Given the description of an element on the screen output the (x, y) to click on. 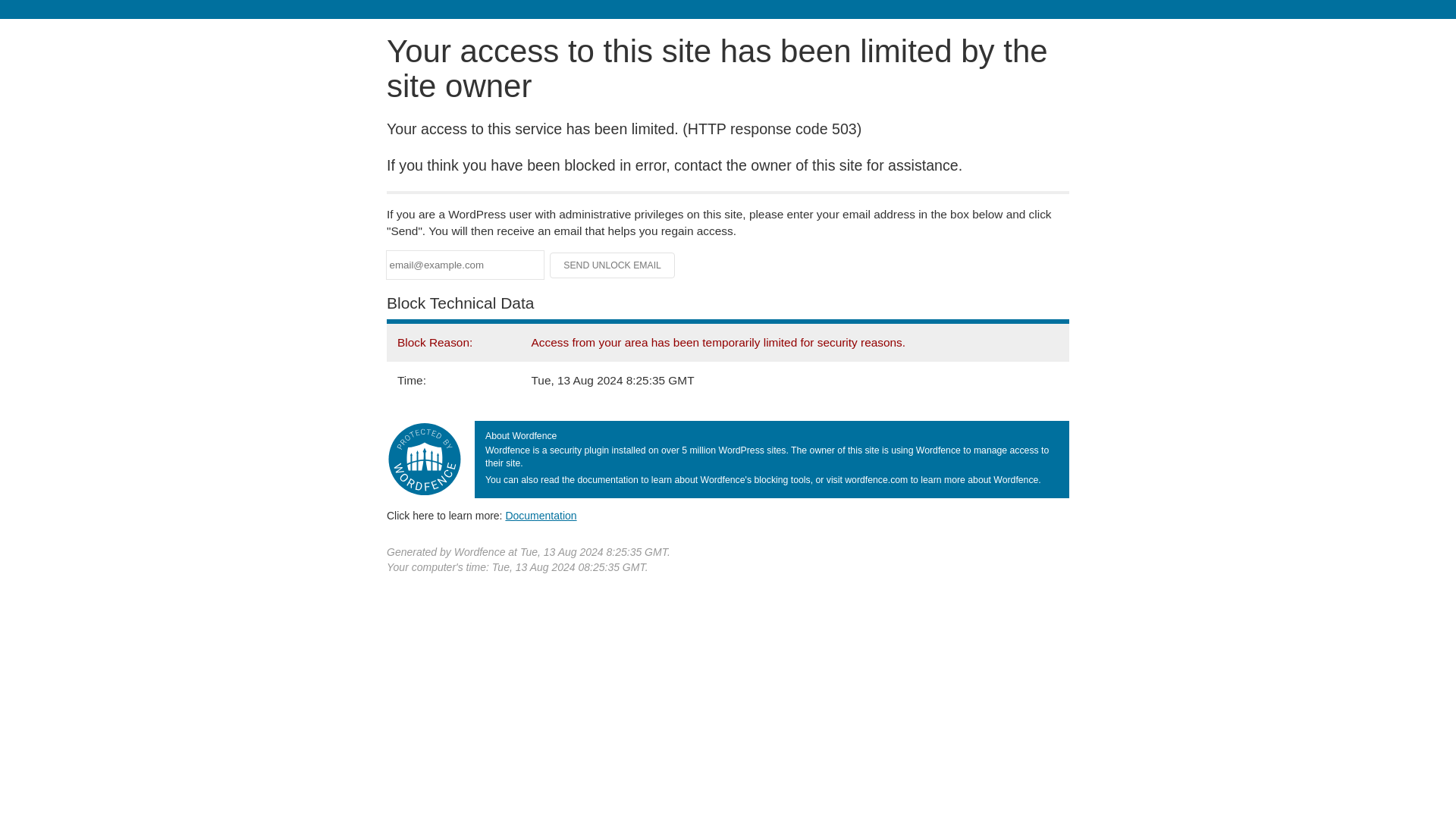
Documentation (540, 515)
Send Unlock Email (612, 265)
Send Unlock Email (612, 265)
